Given the description of an element on the screen output the (x, y) to click on. 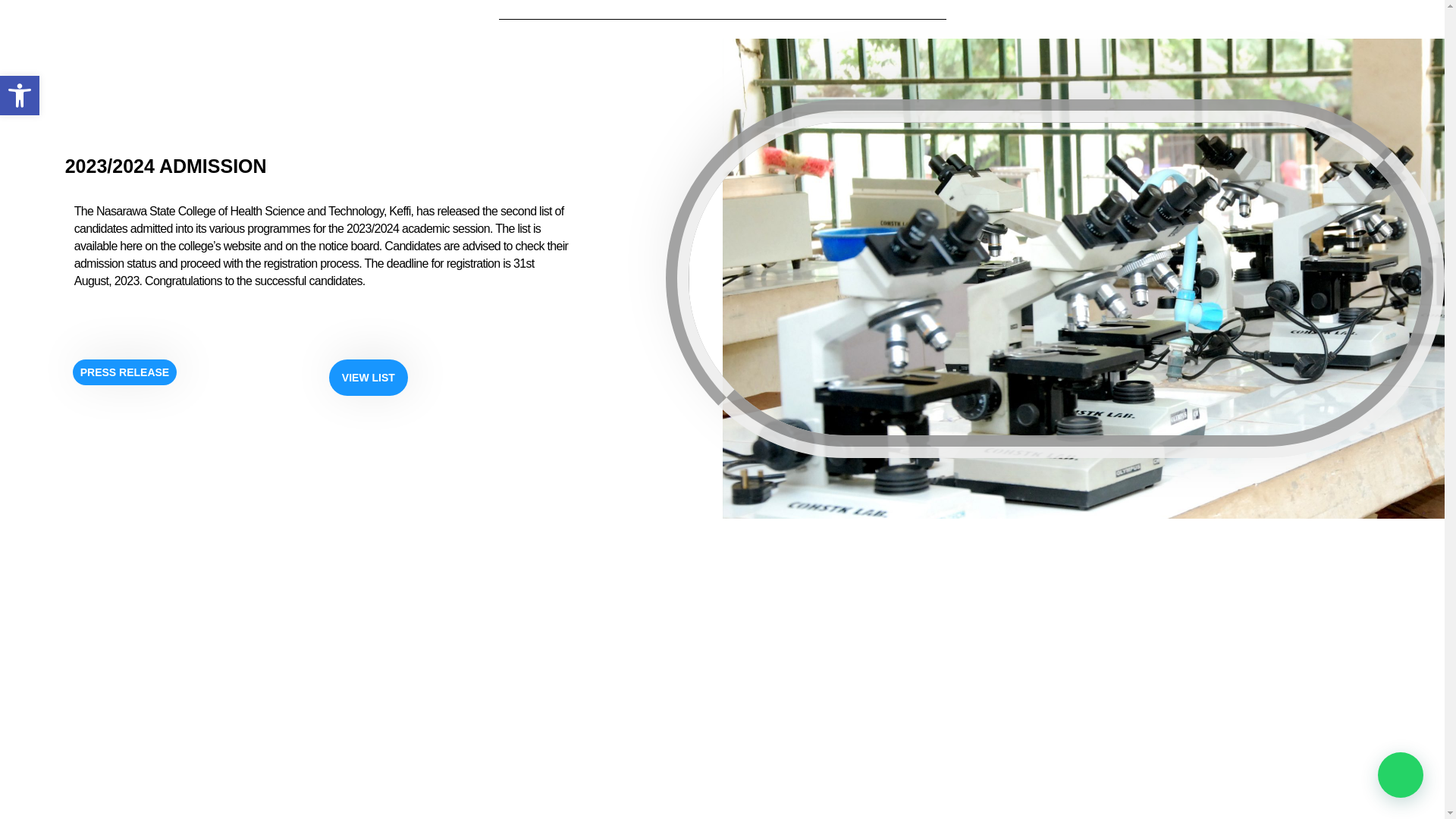
VIEW LIST (368, 377)
Accessibility Tools (19, 95)
Accessibility Tools (19, 95)
PRESS RELEASE (19, 95)
